Given the description of an element on the screen output the (x, y) to click on. 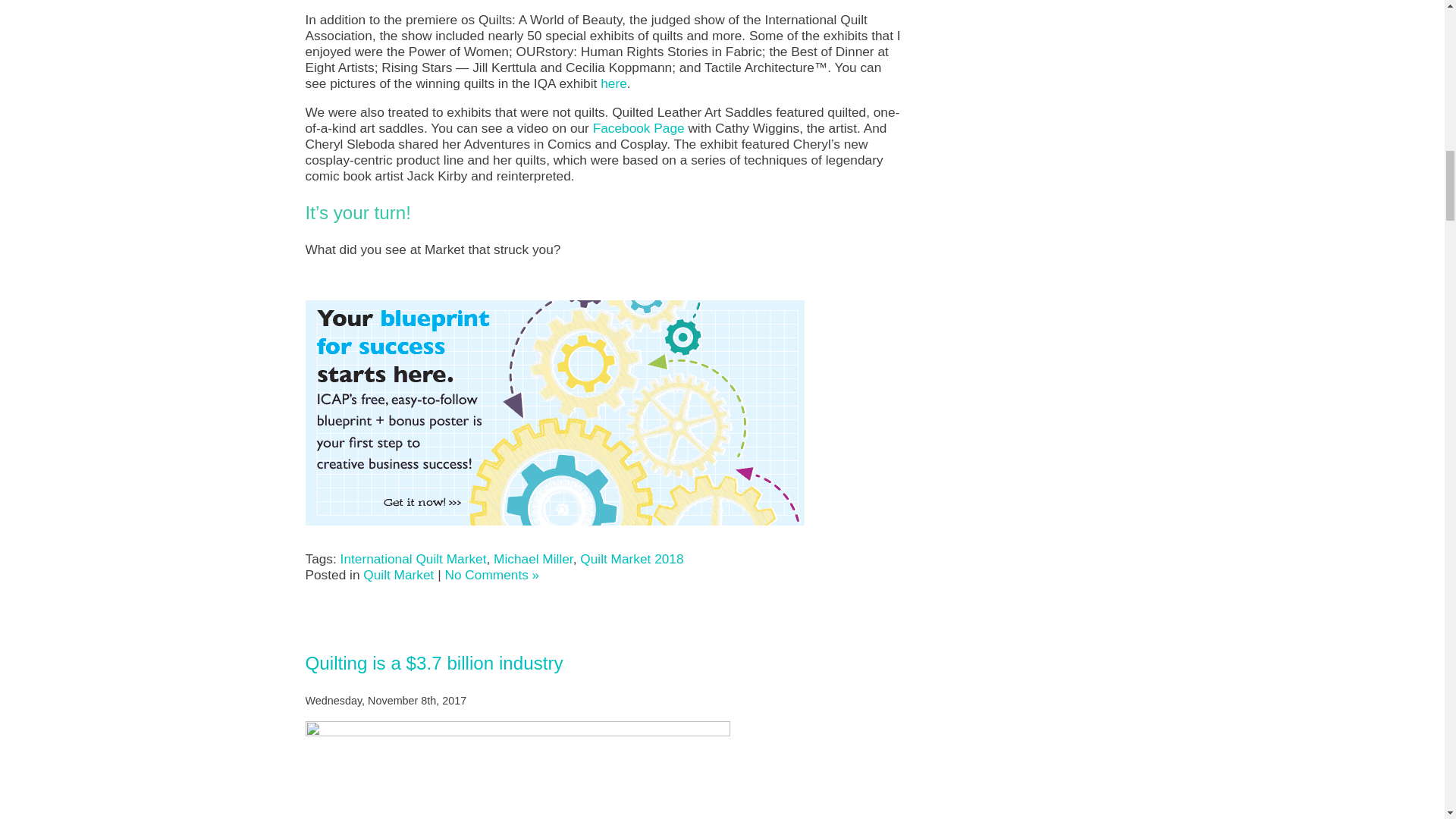
Quilt Market 2018 (630, 558)
Michael Miller (533, 558)
International Quilt Market (413, 558)
here (613, 83)
Facebook Page (638, 127)
